Given the description of an element on the screen output the (x, y) to click on. 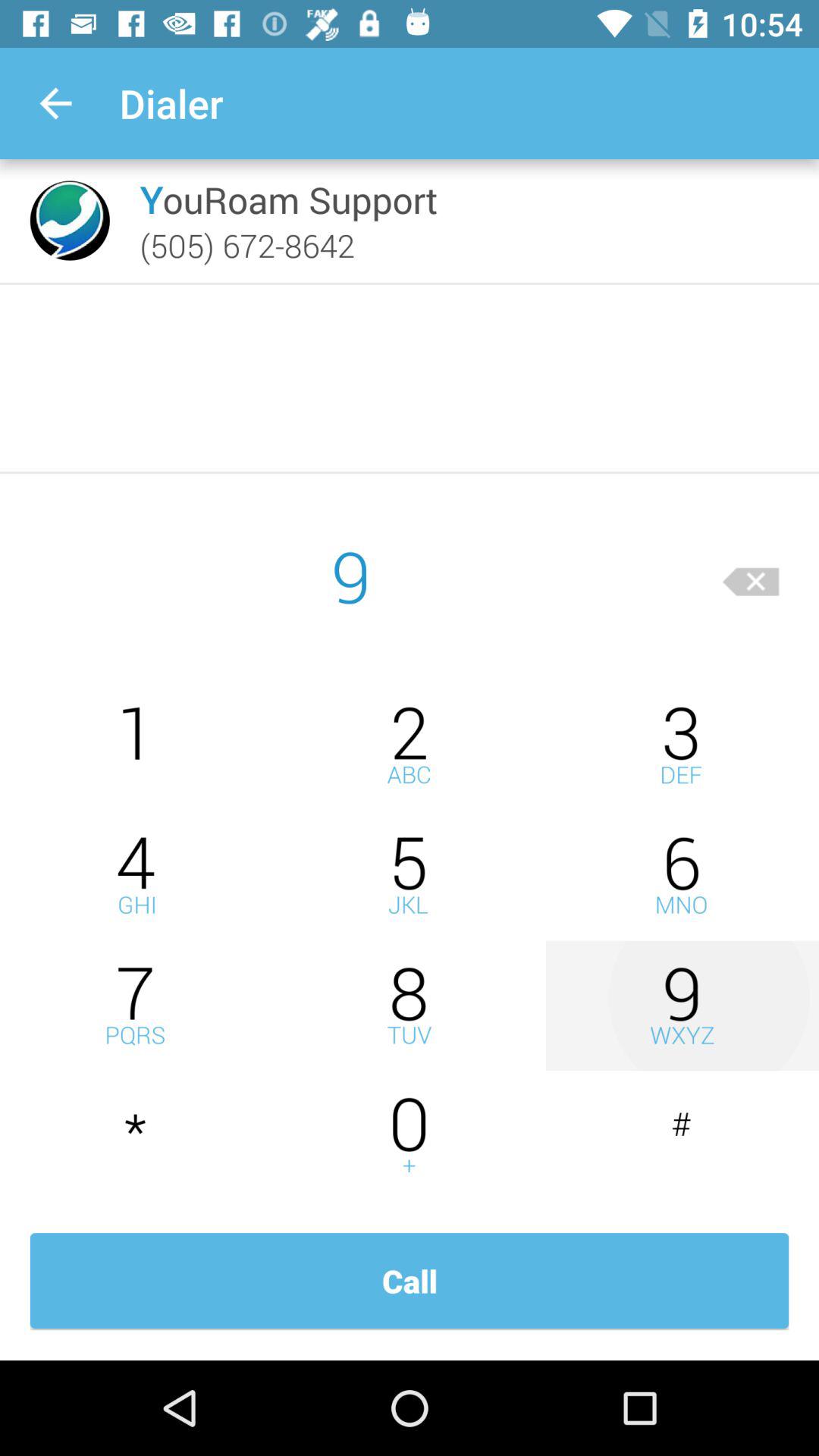
select app to the left of the dialer item (55, 103)
